Given the description of an element on the screen output the (x, y) to click on. 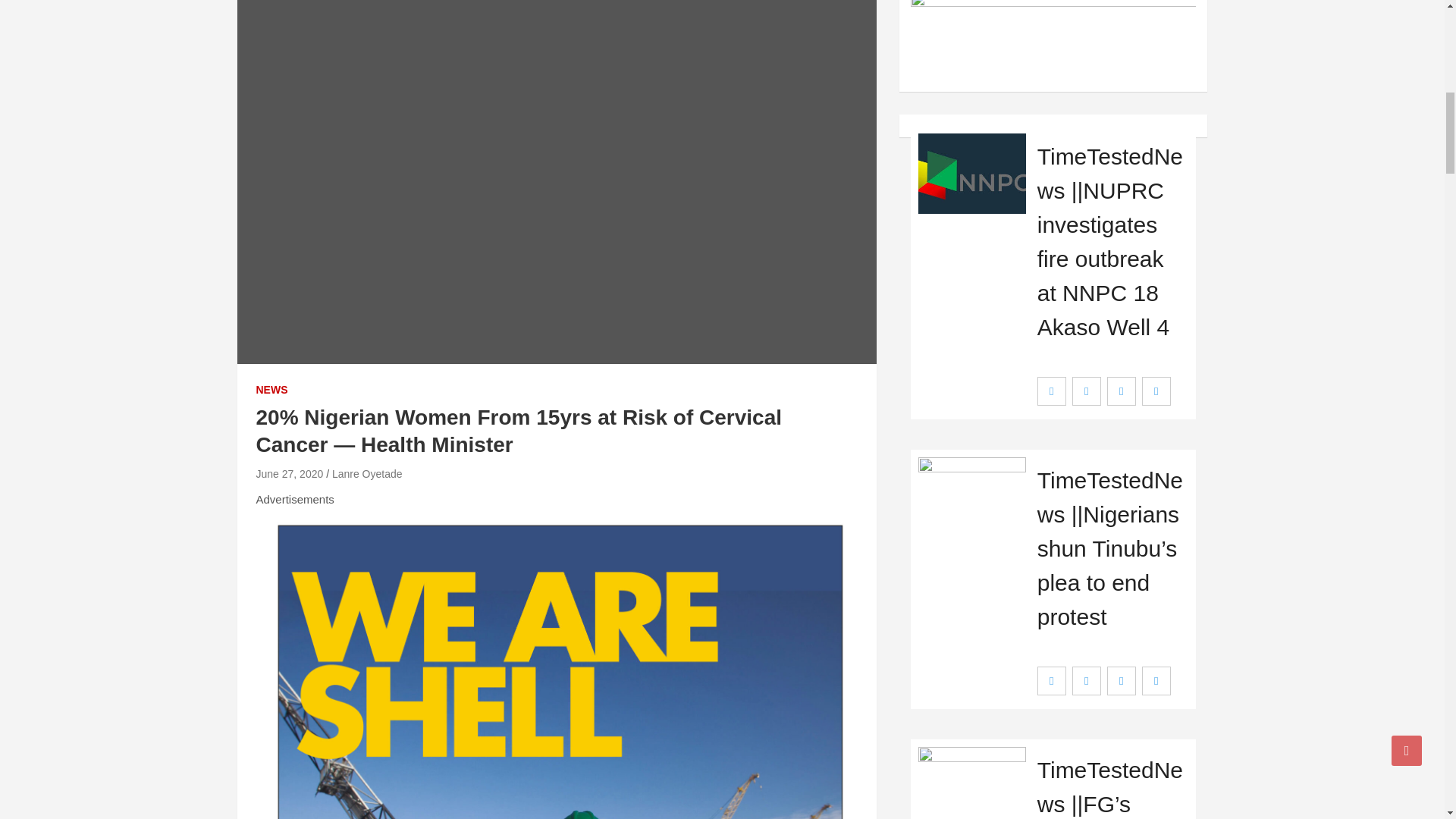
June 27, 2020 (289, 473)
Lanre Oyetade (367, 473)
NEWS (272, 390)
